Given the description of an element on the screen output the (x, y) to click on. 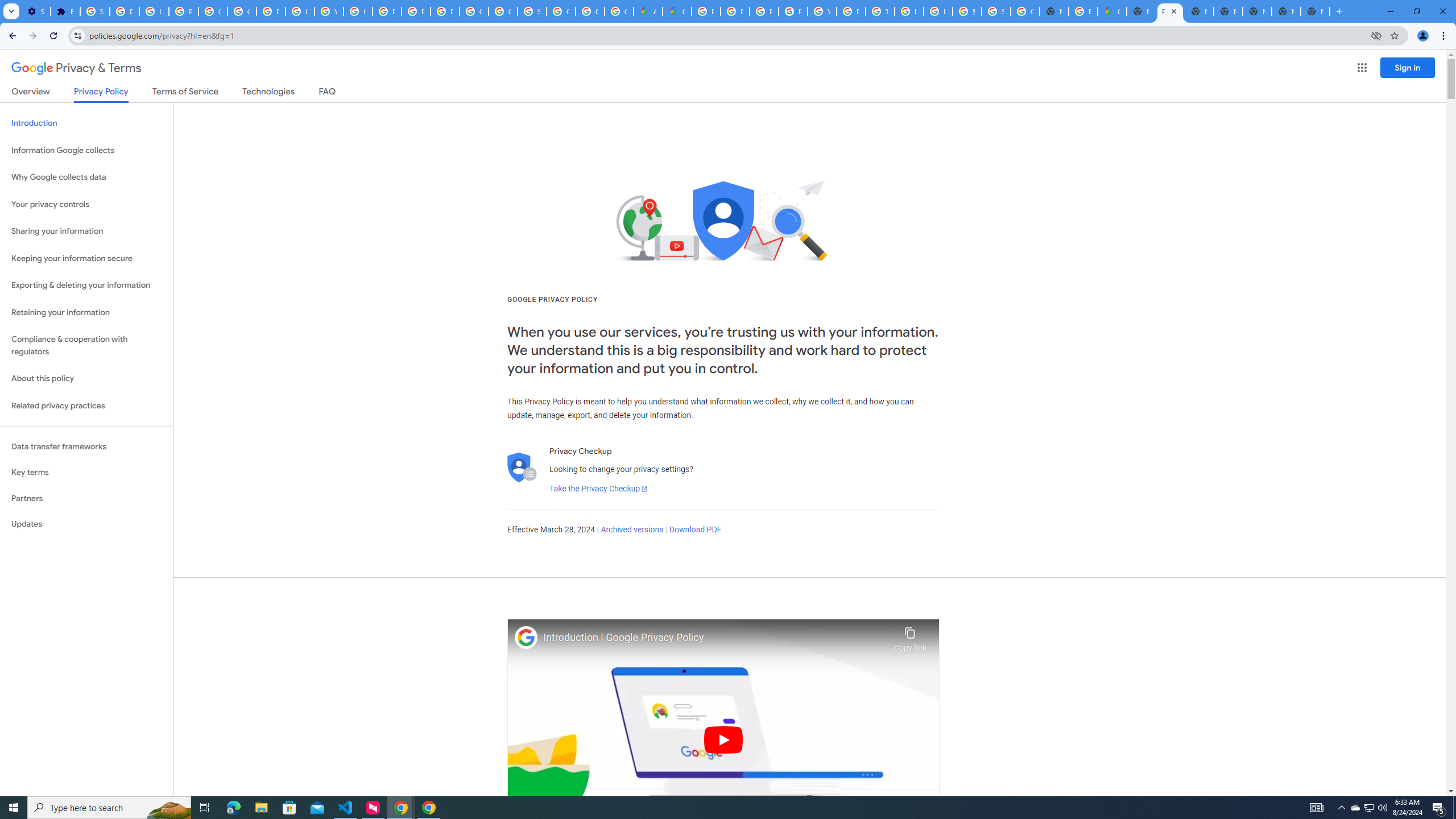
Delete photos & videos - Computer - Google Photos Help (124, 11)
Google Account Help (212, 11)
Privacy & Terms (76, 68)
Take the Privacy Checkup (597, 488)
Extensions (65, 11)
FAQ (327, 93)
Sharing your information (86, 230)
Compliance & cooperation with regulators (86, 345)
Download PDF (695, 529)
